Given the description of an element on the screen output the (x, y) to click on. 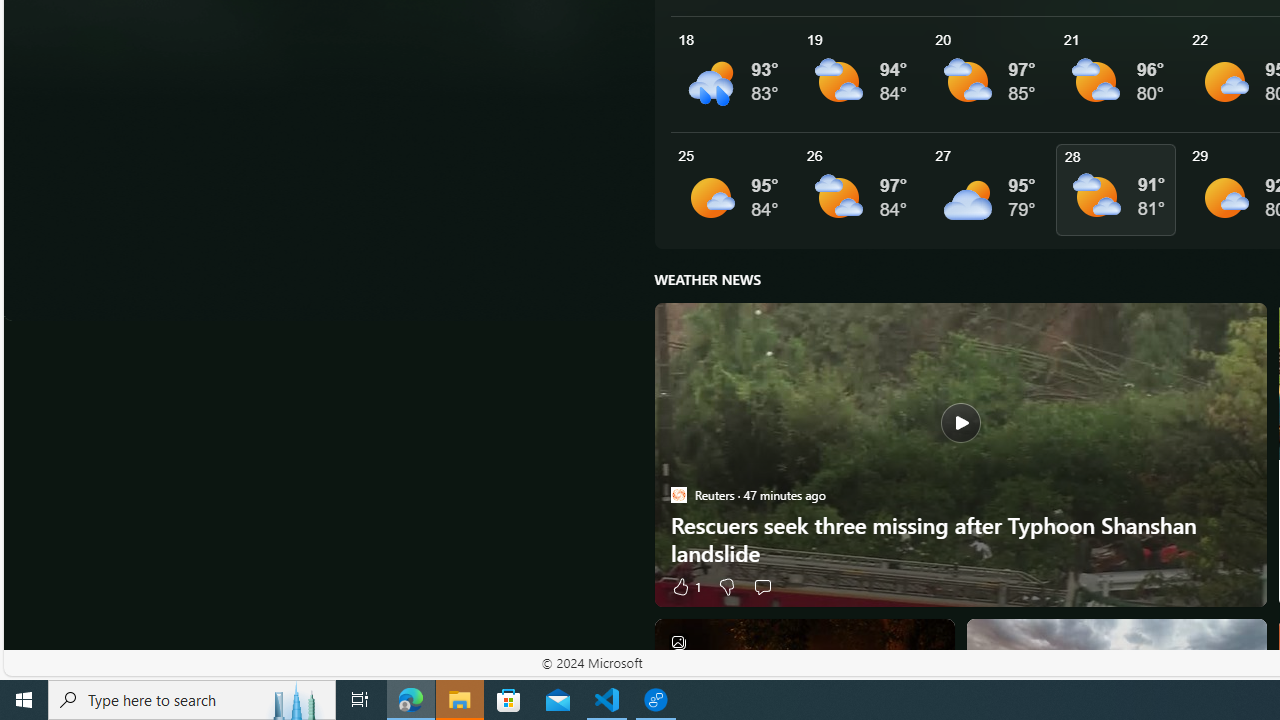
See More Details (1120, 190)
Rescuers seek three missing after Typhoon Shanshan landslide (960, 454)
